Given the description of an element on the screen output the (x, y) to click on. 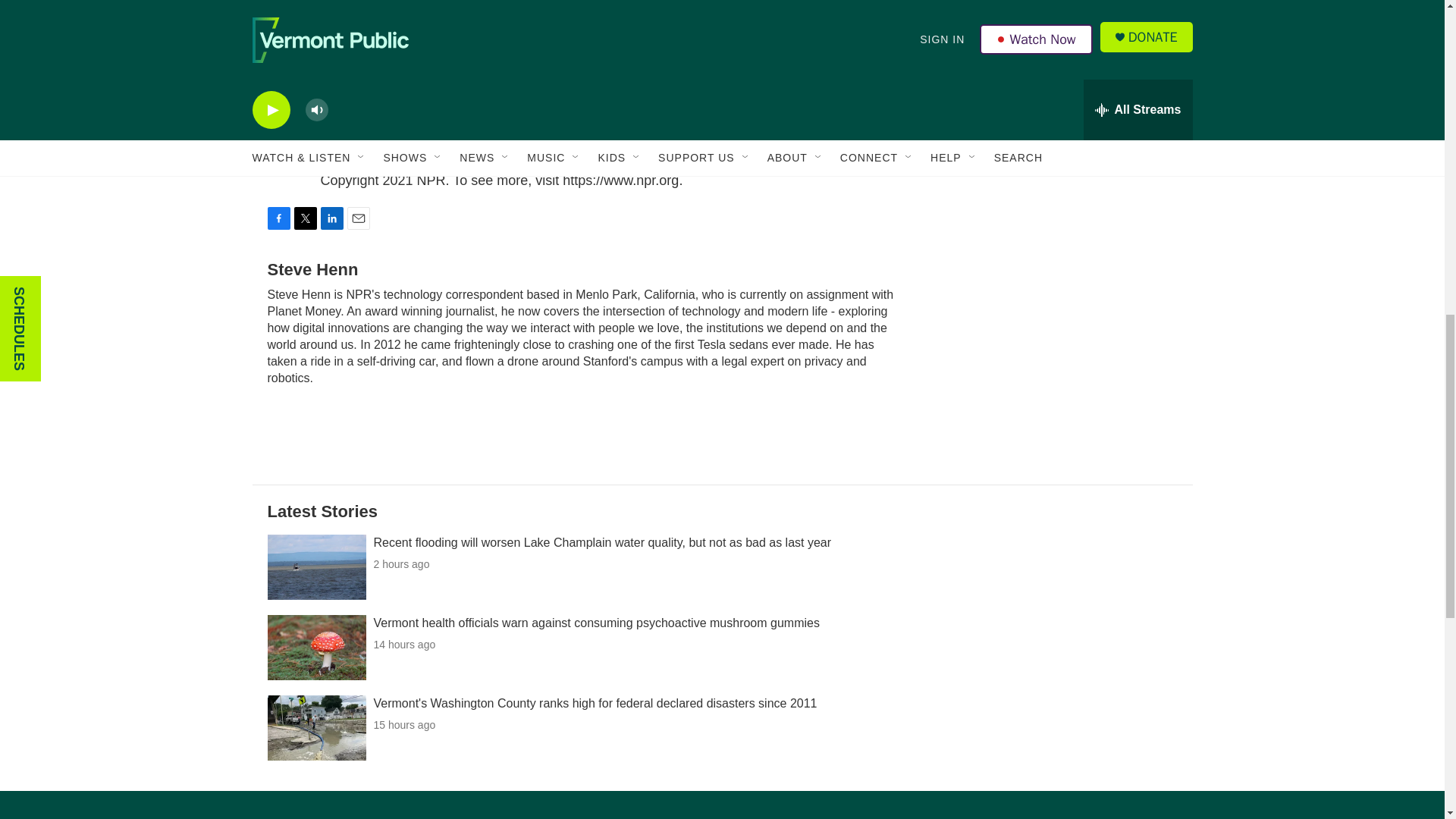
3rd party ad content (1062, 343)
3rd party ad content (1062, 124)
